Given the description of an element on the screen output the (x, y) to click on. 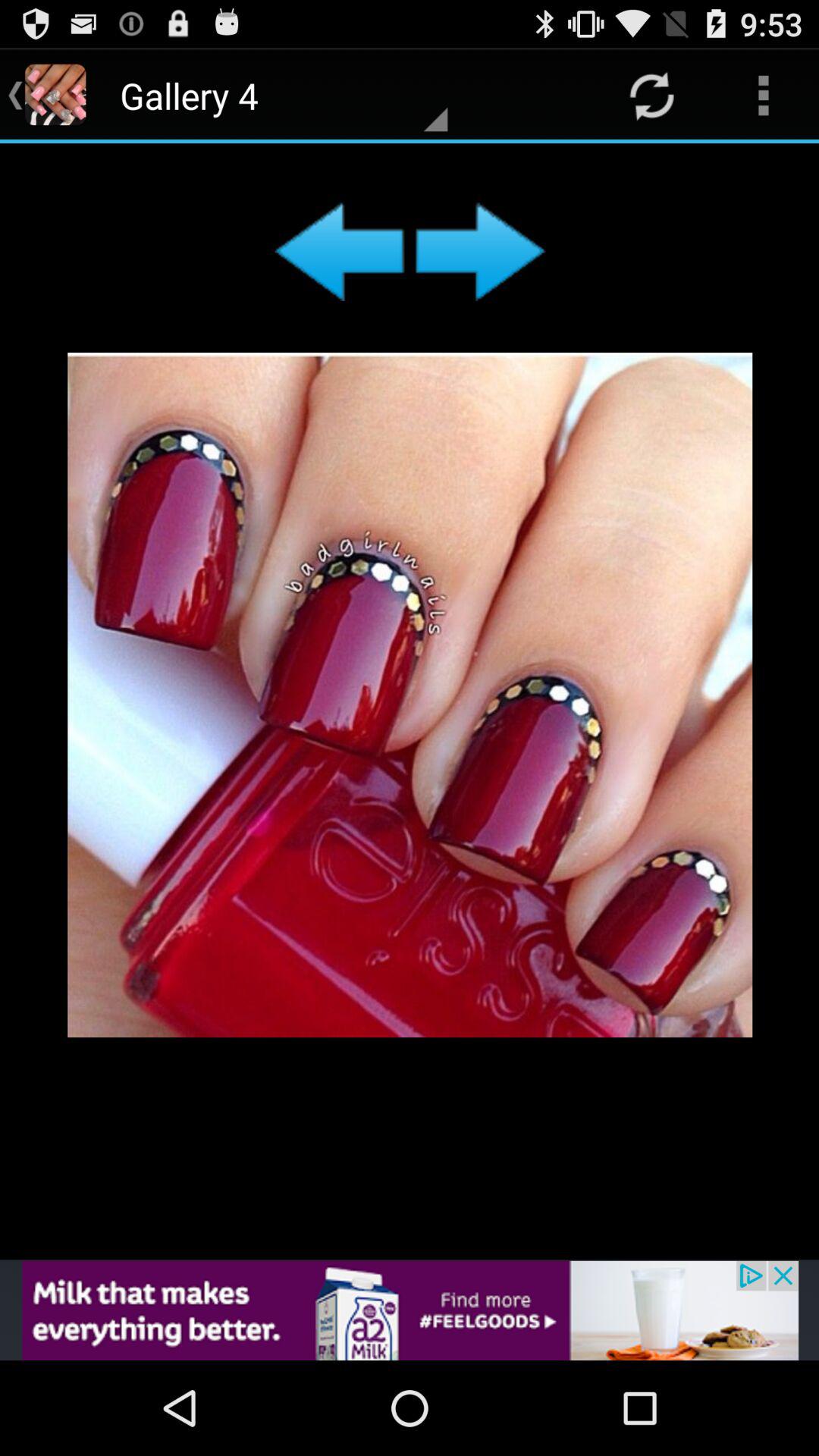
makeup kit (409, 701)
